Given the description of an element on the screen output the (x, y) to click on. 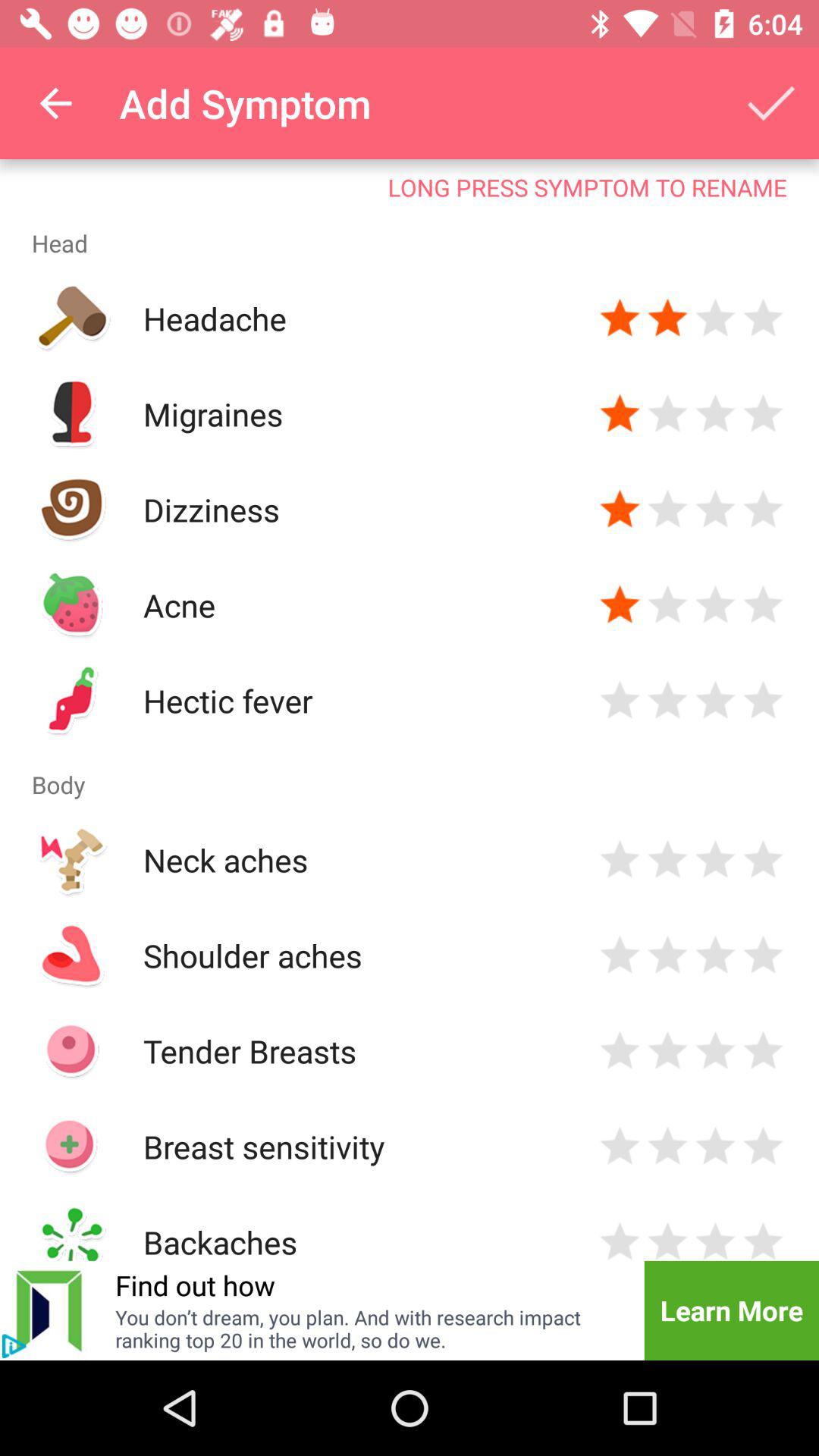
select item to the left of the learn more icon (369, 1329)
